Given the description of an element on the screen output the (x, y) to click on. 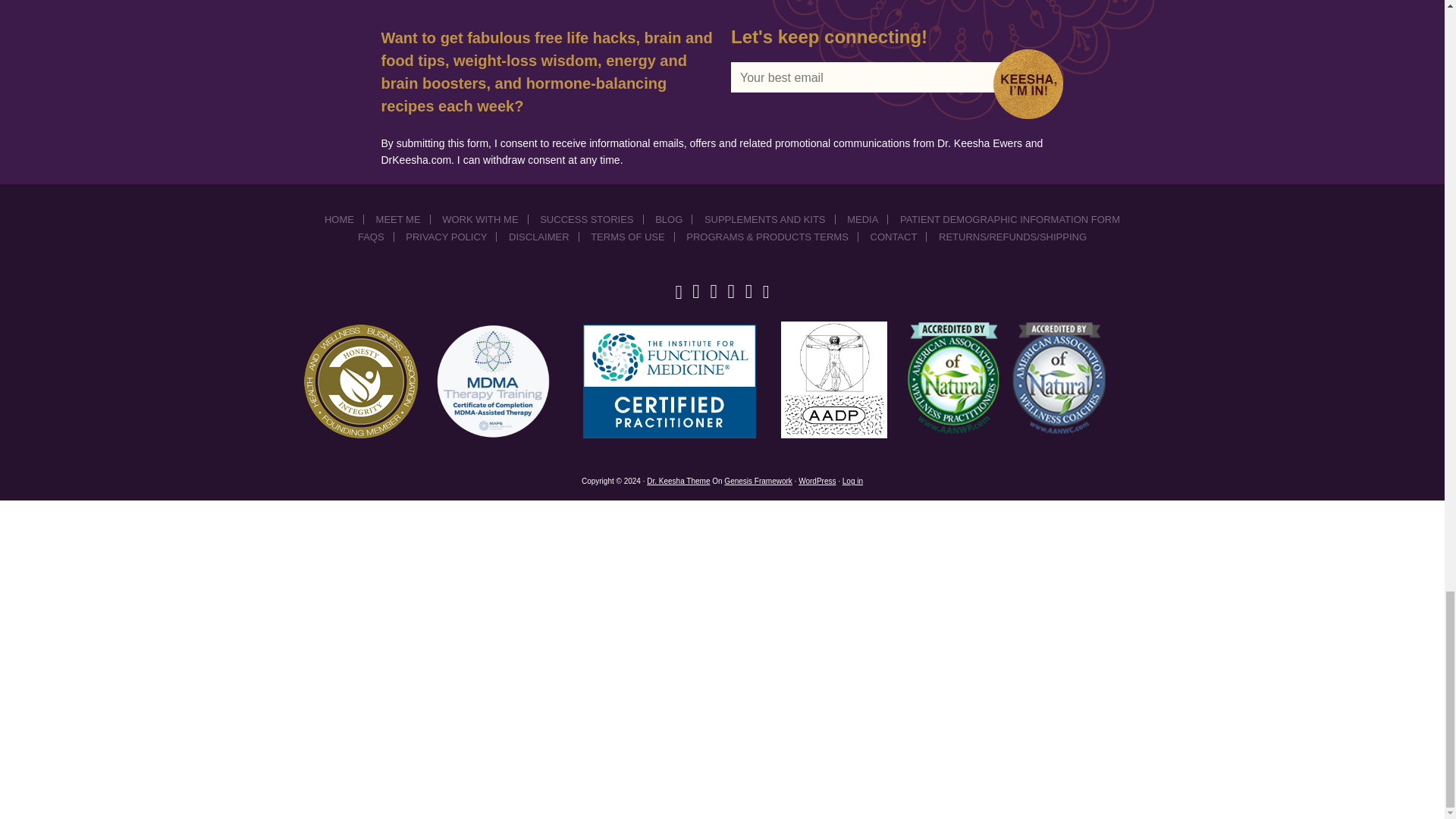
LinkedIn (748, 291)
submit (1033, 82)
YouTube (766, 290)
Instagram (713, 291)
Facebook (678, 291)
Twitter (696, 291)
Pinterest (731, 291)
